Given the description of an element on the screen output the (x, y) to click on. 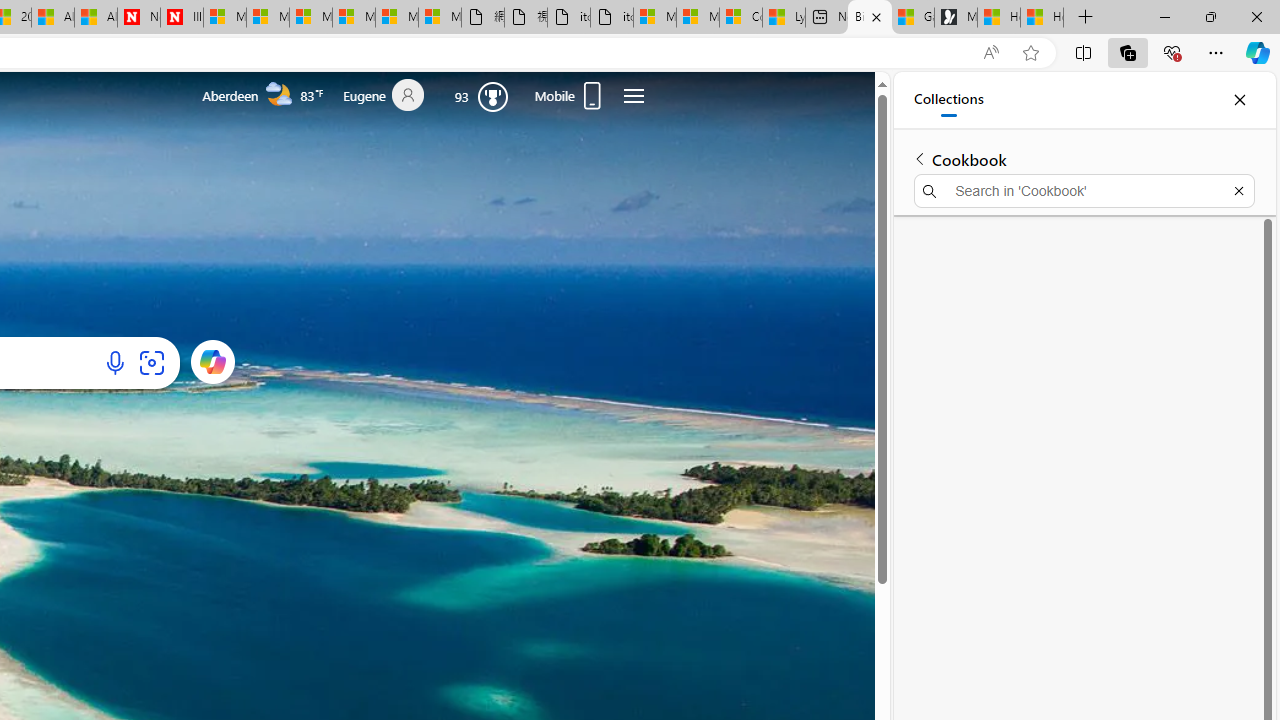
Settings and quick links (633, 95)
Learn more (212, 361)
Class: medal-circled (492, 96)
Mobile (570, 95)
Newsweek - News, Analysis, Politics, Business, Technology (138, 17)
Microsoft Rewards 93 (481, 95)
